Given the description of an element on the screen output the (x, y) to click on. 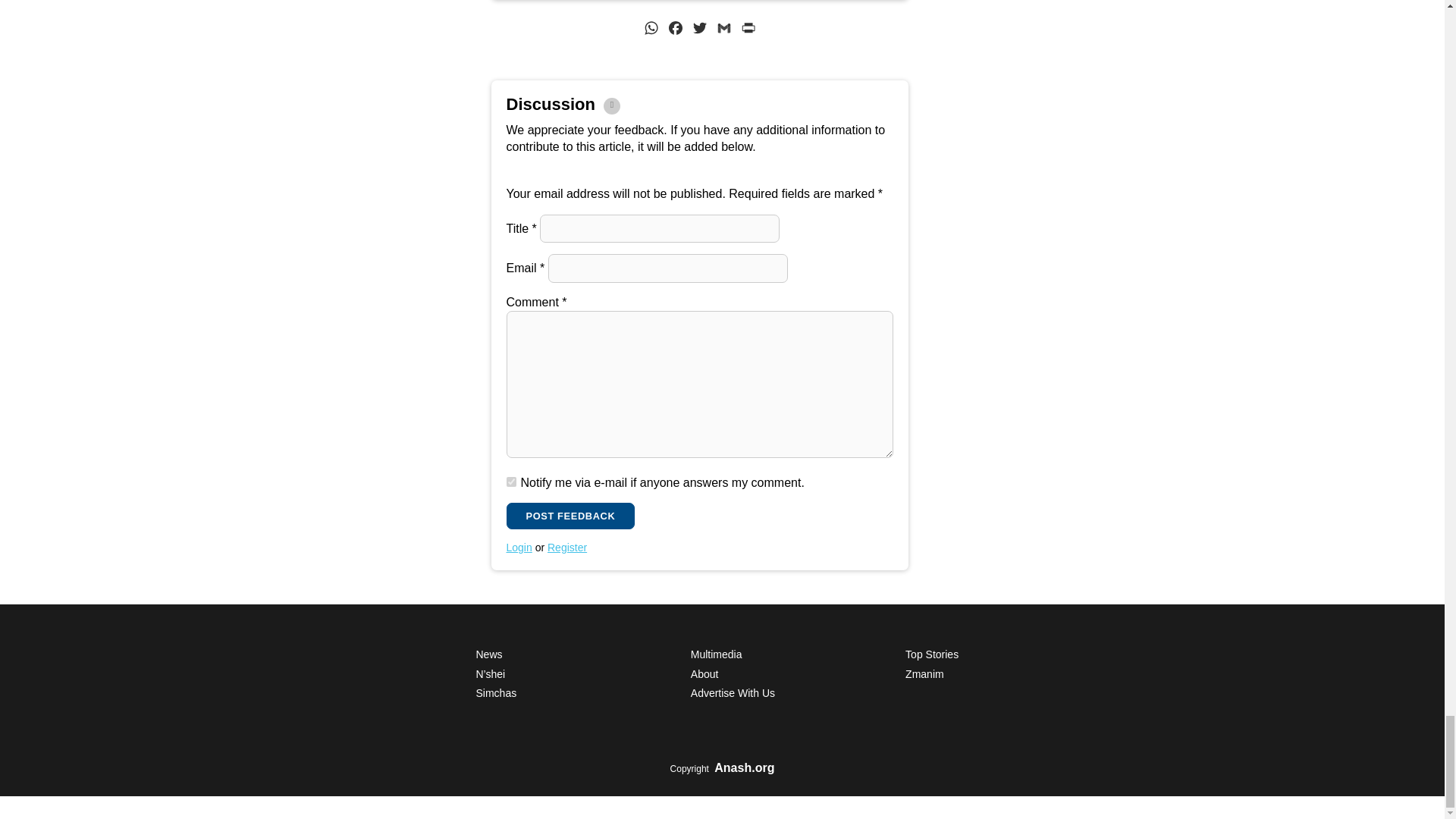
on (511, 481)
Post Feedback (570, 515)
